Given the description of an element on the screen output the (x, y) to click on. 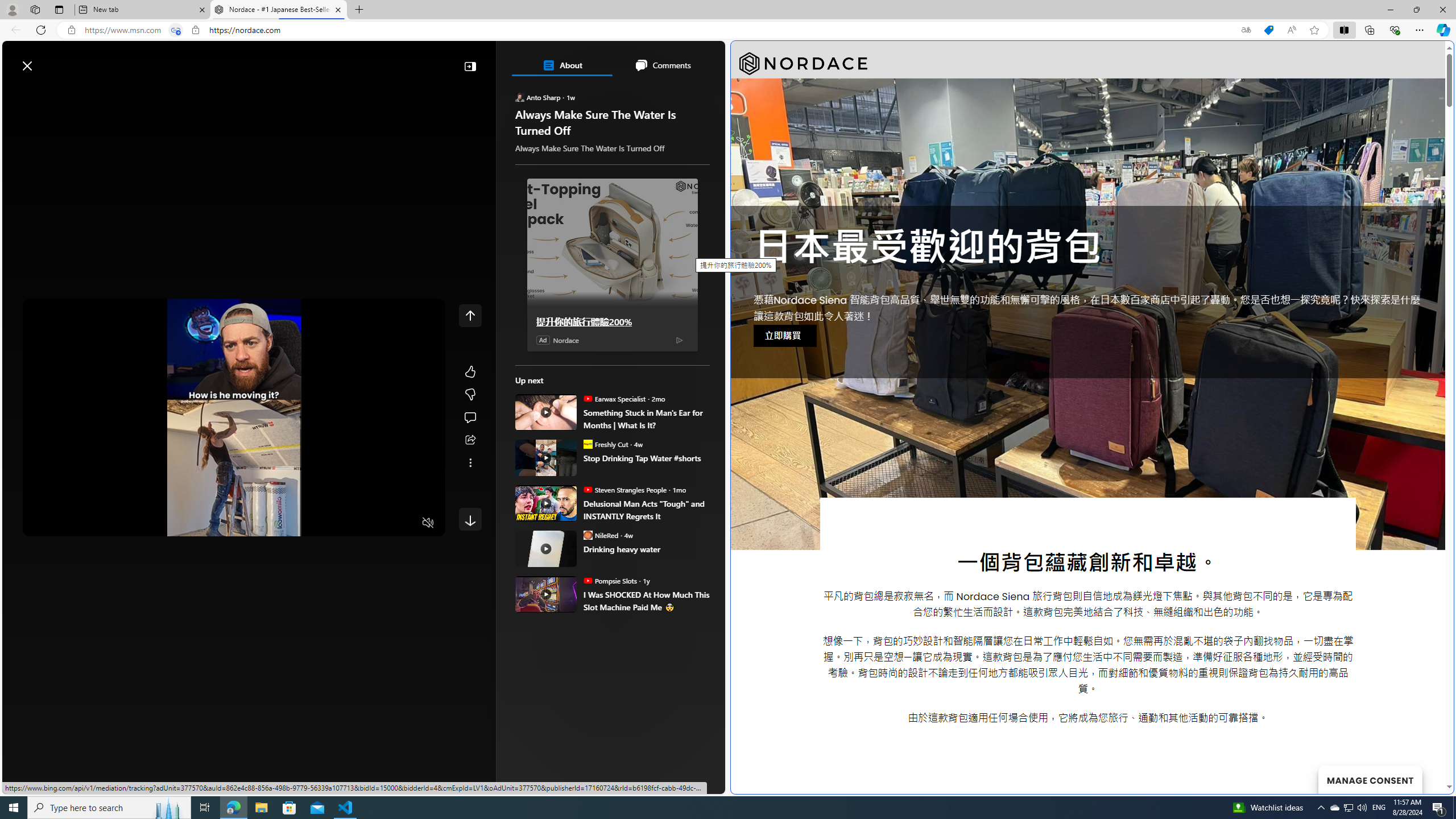
About (561, 64)
Steven Strangles People Steven Strangles People (624, 488)
Anto Sharp (519, 96)
Comments (662, 64)
Drinking heavy water (646, 548)
NileRed (587, 534)
Stop Drinking Tap Water #shorts (545, 456)
Stop Drinking Tap Water #shorts (646, 457)
Skip to footer (46, 59)
Freshly Cut (587, 443)
Show translate options (1245, 29)
